Given the description of an element on the screen output the (x, y) to click on. 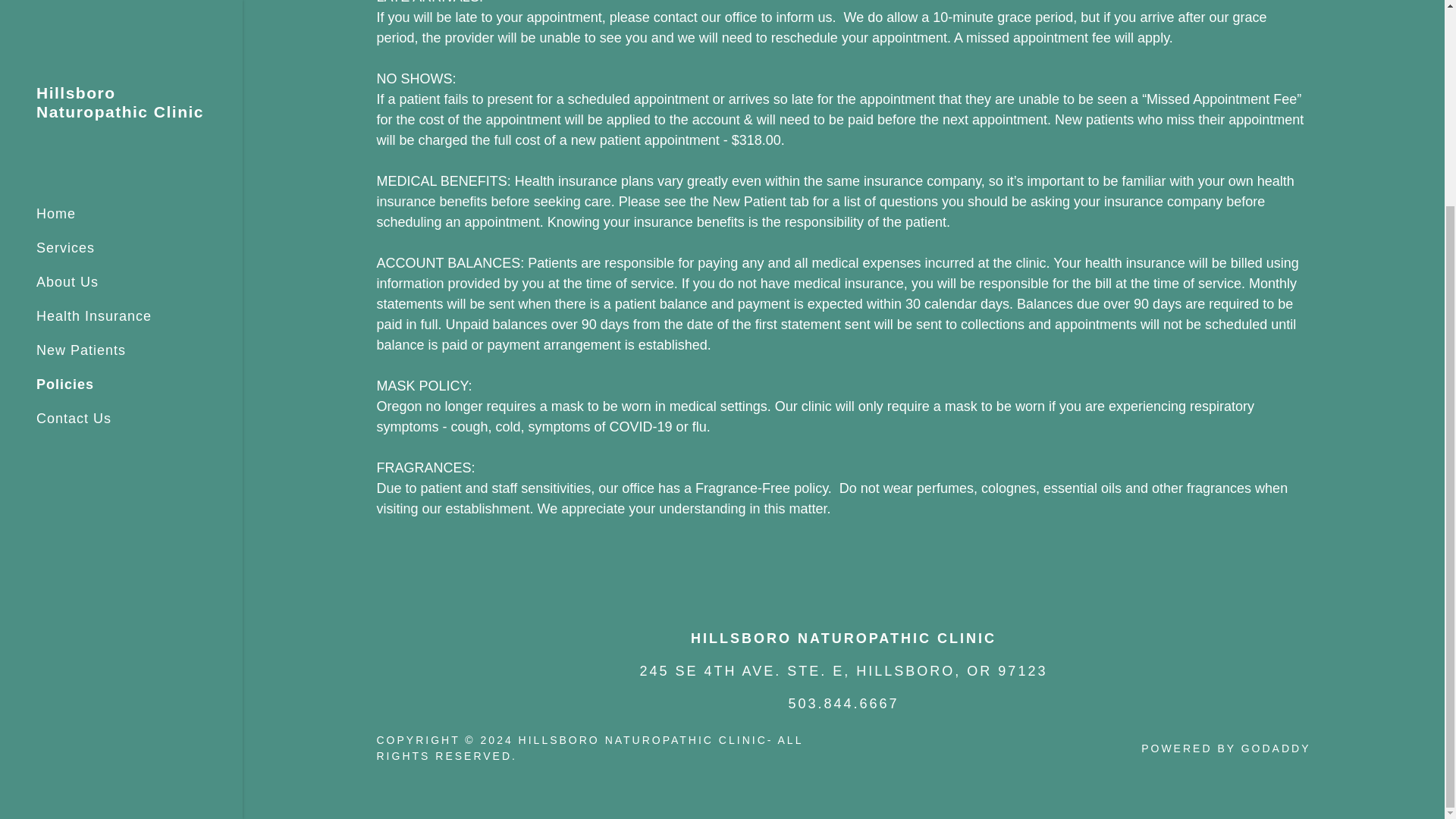
Contact Us (74, 152)
GODADDY (1276, 747)
Health Insurance (93, 50)
New Patients (80, 84)
About Us (67, 16)
Policies (65, 118)
503.844.6667 (842, 703)
